Given the description of an element on the screen output the (x, y) to click on. 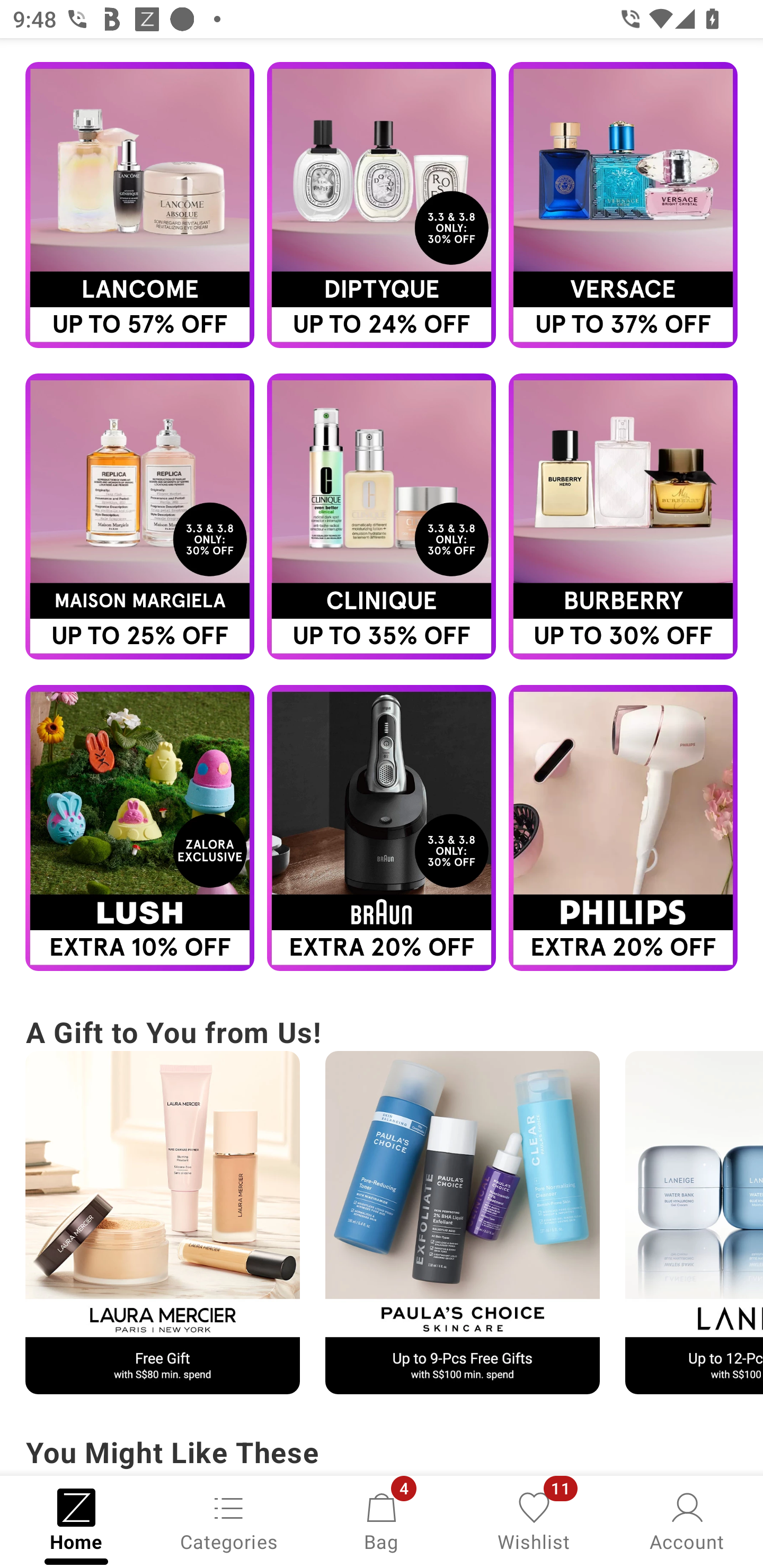
Campaign banner (139, 205)
Campaign banner (381, 205)
Campaign banner (622, 205)
Campaign banner (139, 516)
Campaign banner (381, 516)
Campaign banner (622, 516)
Campaign banner (139, 827)
Campaign banner (381, 827)
Campaign banner (622, 827)
Campaign banner (162, 1221)
Campaign banner (462, 1221)
Campaign banner (693, 1221)
You Might Like These (381, 1454)
Categories (228, 1519)
Bag, 4 new notifications Bag (381, 1519)
Wishlist, 11 new notifications Wishlist (533, 1519)
Account (686, 1519)
